Given the description of an element on the screen output the (x, y) to click on. 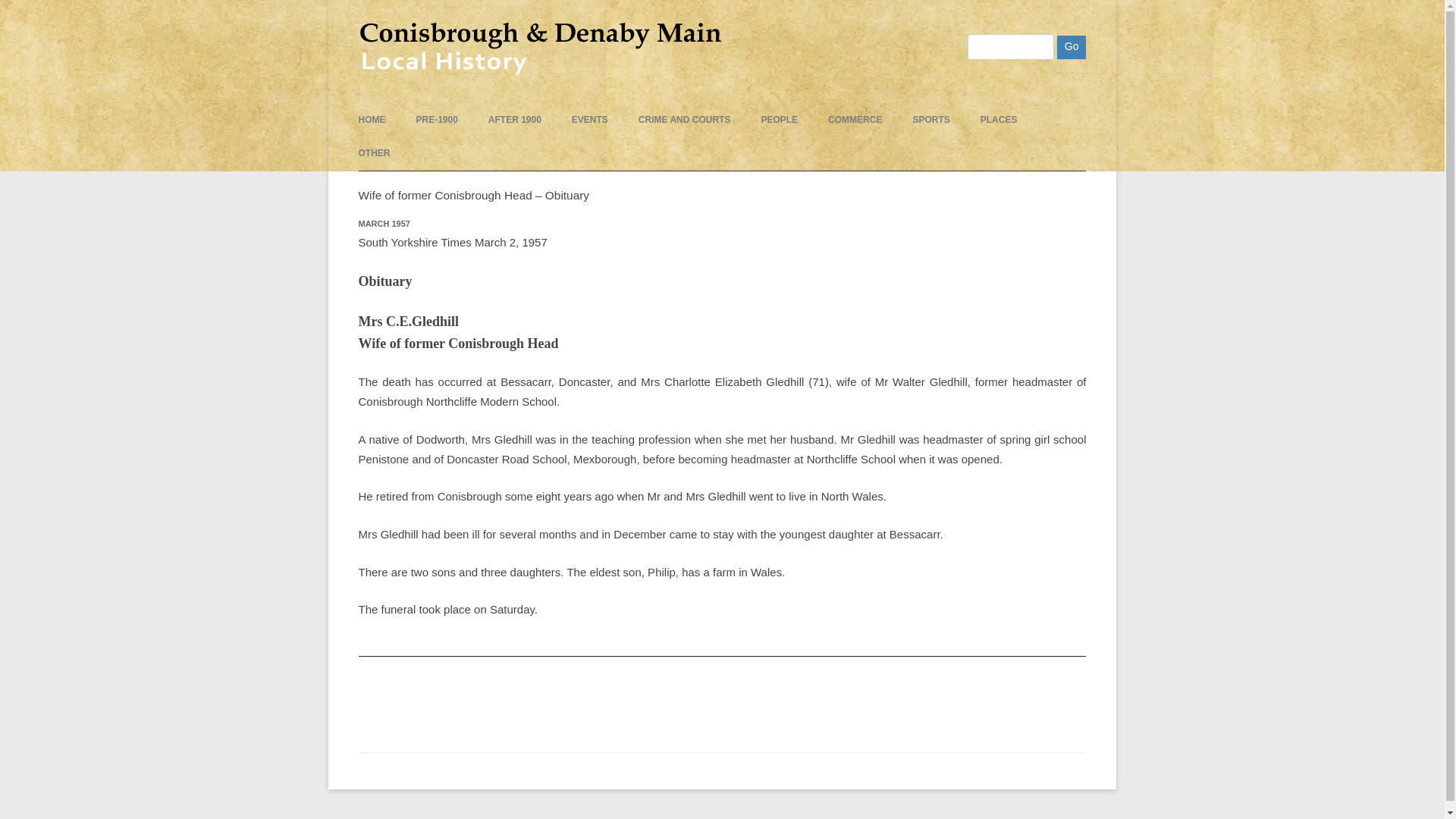
EVENTS (590, 119)
PEOPLE (778, 119)
SPORTS (930, 119)
Go (1071, 46)
AFTER 1900 (514, 119)
PRE-1900 (435, 119)
OTHER (374, 152)
CRIME AND COURTS (684, 119)
COMMERCE (855, 119)
Go (1071, 46)
PLACES (998, 119)
